Given the description of an element on the screen output the (x, y) to click on. 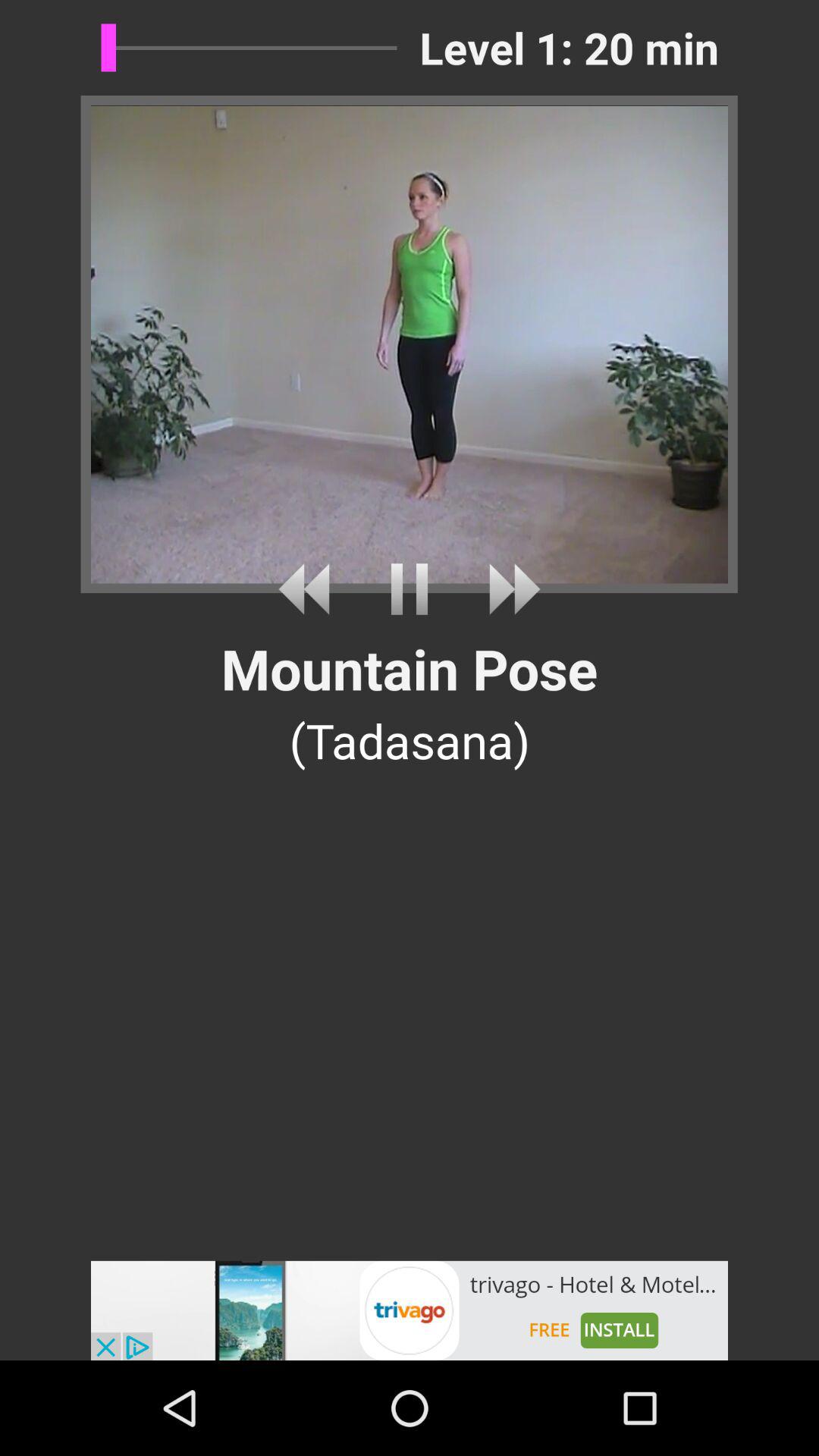
switch autoplay option (309, 589)
